Given the description of an element on the screen output the (x, y) to click on. 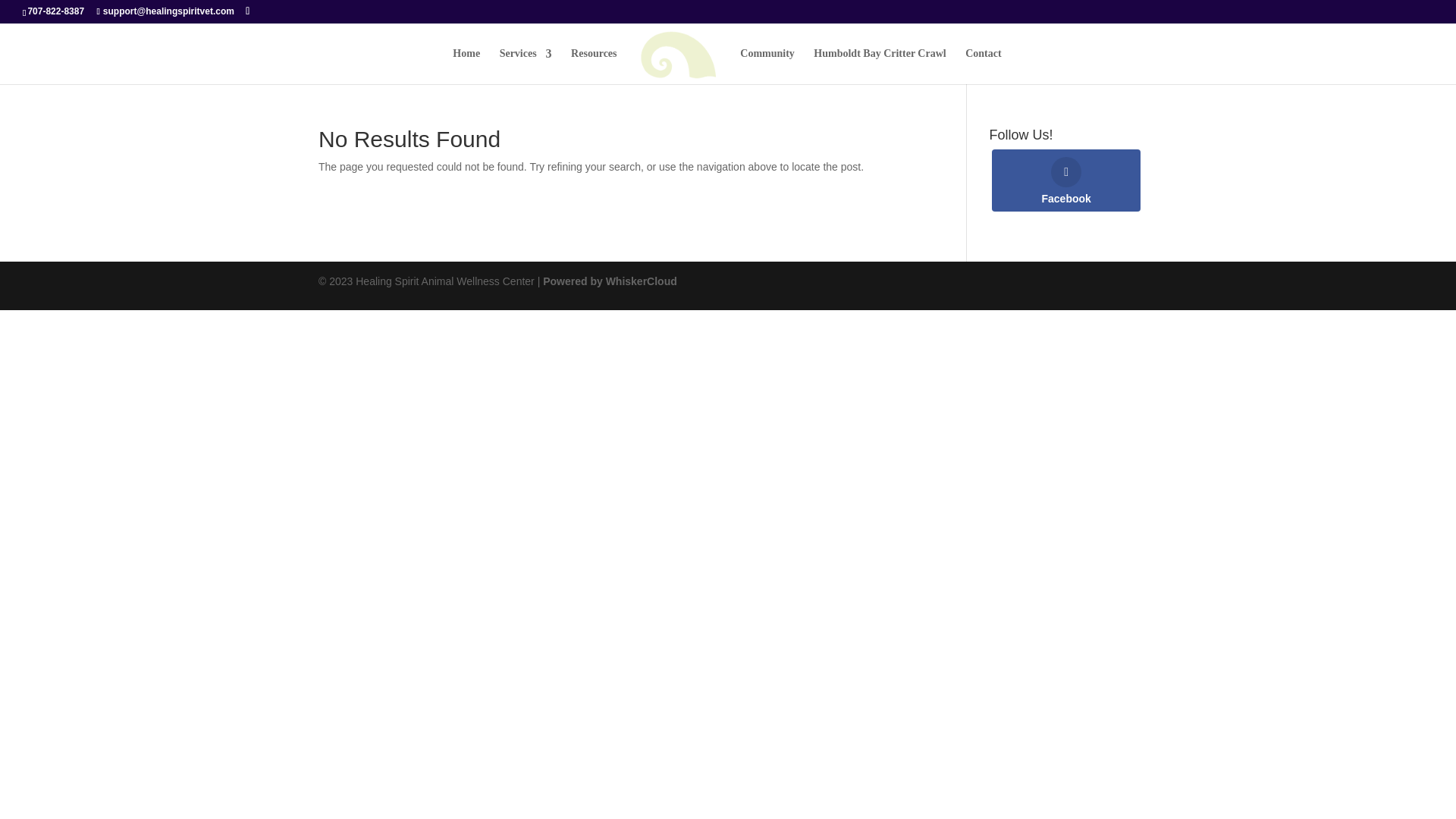
Services (525, 66)
Powered by WhiskerCloud (610, 281)
Contact (983, 66)
707-822-8387 (55, 10)
Facebook (1065, 180)
Humboldt Bay Critter Crawl (878, 66)
Community (766, 66)
Resources (592, 66)
